Given the description of an element on the screen output the (x, y) to click on. 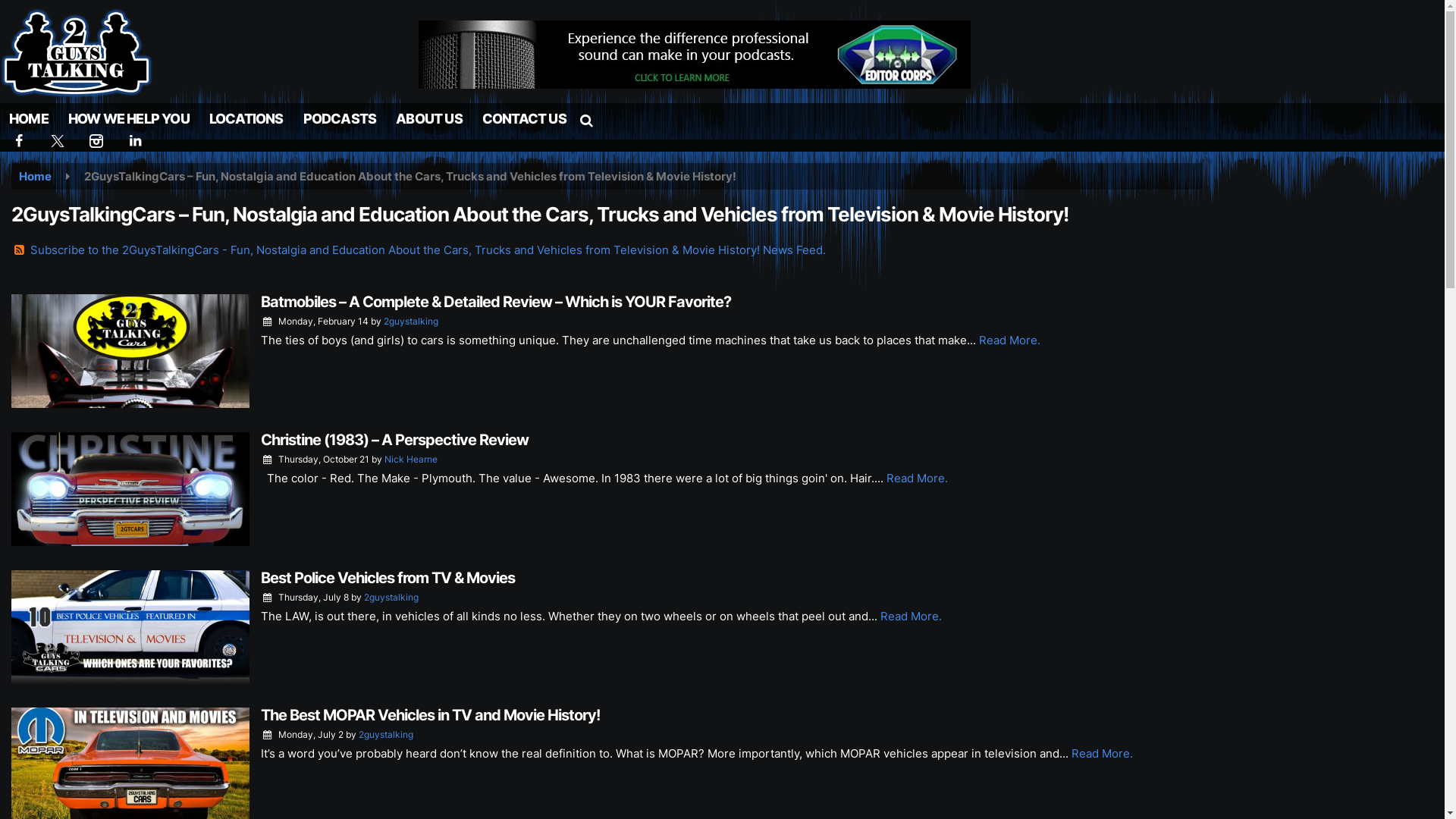
Read More. Element type: text (1101, 753)
2guystalking Element type: text (385, 734)
2guystalking Element type: text (391, 596)
CONTACT US Element type: text (524, 118)
Follow us on Instagram Element type: hover (96, 140)
Read More. Element type: text (916, 477)
Follow us on LinkedIn Element type: hover (135, 140)
ABOUT US Element type: text (428, 118)
HOME Element type: text (28, 118)
HOW WE HELP YOU Element type: text (128, 118)
Read More. Element type: text (910, 615)
PODCASTS Element type: text (339, 118)
Best Police Vehicles from TV & Movies Element type: text (387, 577)
LOCATIONS Element type: text (246, 118)
Home Element type: text (34, 176)
The Best MOPAR Vehicles in TV and Movie History! Element type: text (429, 715)
Follow us on Facebook Element type: hover (19, 140)
2guystalking Element type: text (410, 320)
Nick Hearne Element type: text (410, 458)
Follow us on X Element type: hover (57, 140)
Read More. Element type: text (1009, 339)
